Given the description of an element on the screen output the (x, y) to click on. 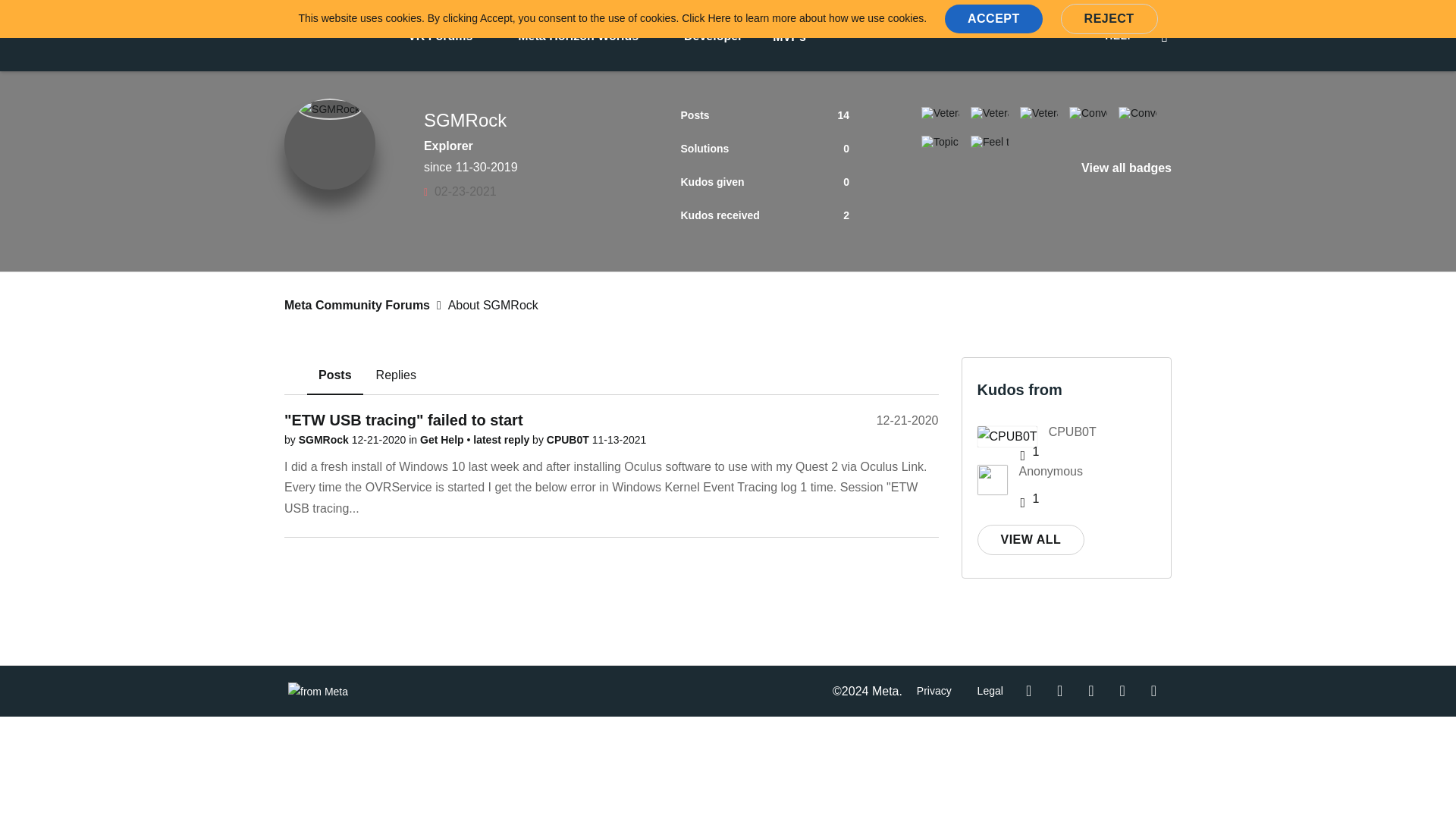
MVPs (789, 36)
SGMRock (329, 108)
Click Here (705, 18)
Veteran 3 (940, 112)
Meta Horizon Worlds (578, 35)
Veteran 1 (1039, 112)
Conversationalist 1 (1137, 112)
View profile (325, 439)
HELP (1119, 35)
Developer (713, 35)
